Given the description of an element on the screen output the (x, y) to click on. 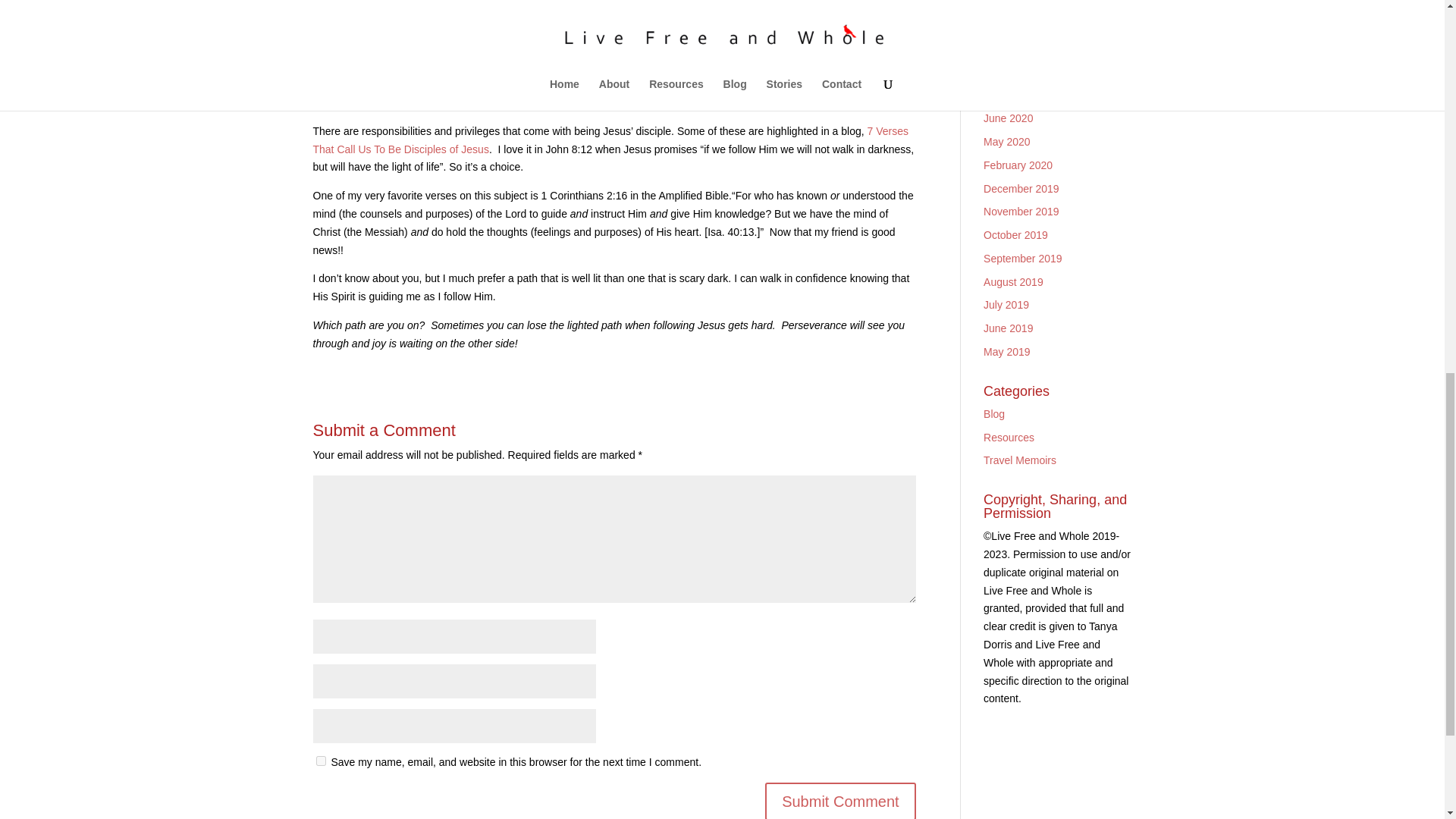
yes (319, 760)
Submit Comment (840, 800)
7 Verses That Call Us To Be Disciples of Jesus (610, 140)
Submit Comment (840, 800)
